Given the description of an element on the screen output the (x, y) to click on. 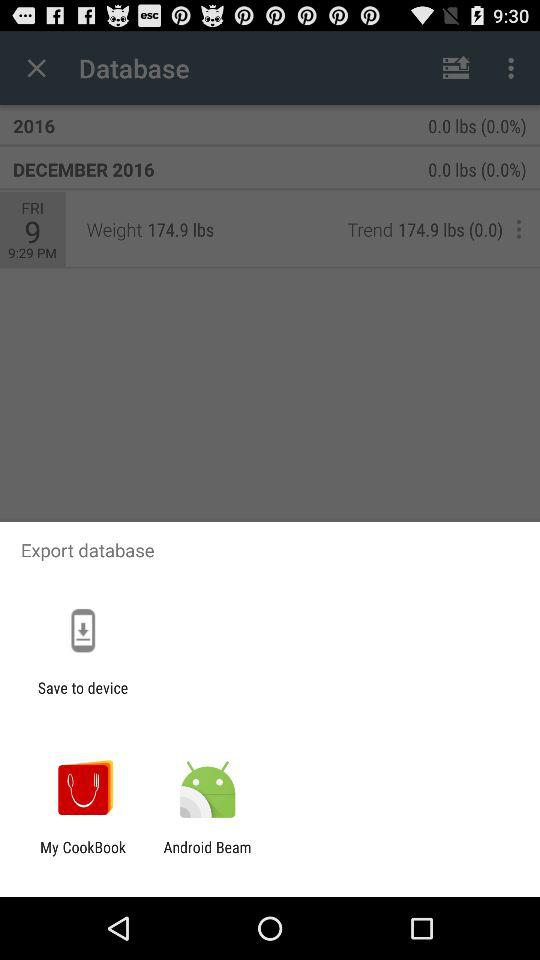
jump until the my cookbook icon (83, 856)
